Given the description of an element on the screen output the (x, y) to click on. 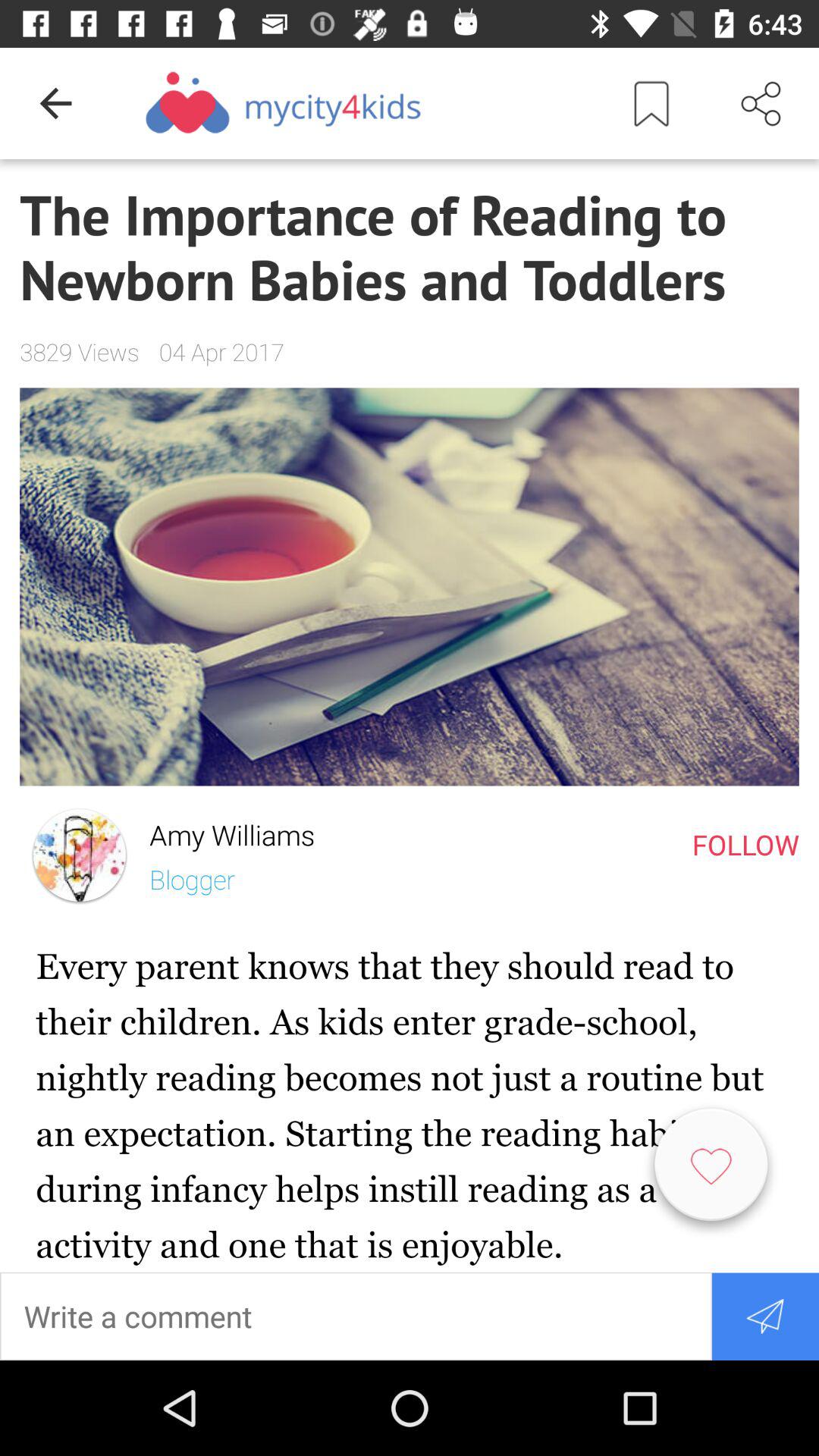
mail this article (764, 1316)
